Given the description of an element on the screen output the (x, y) to click on. 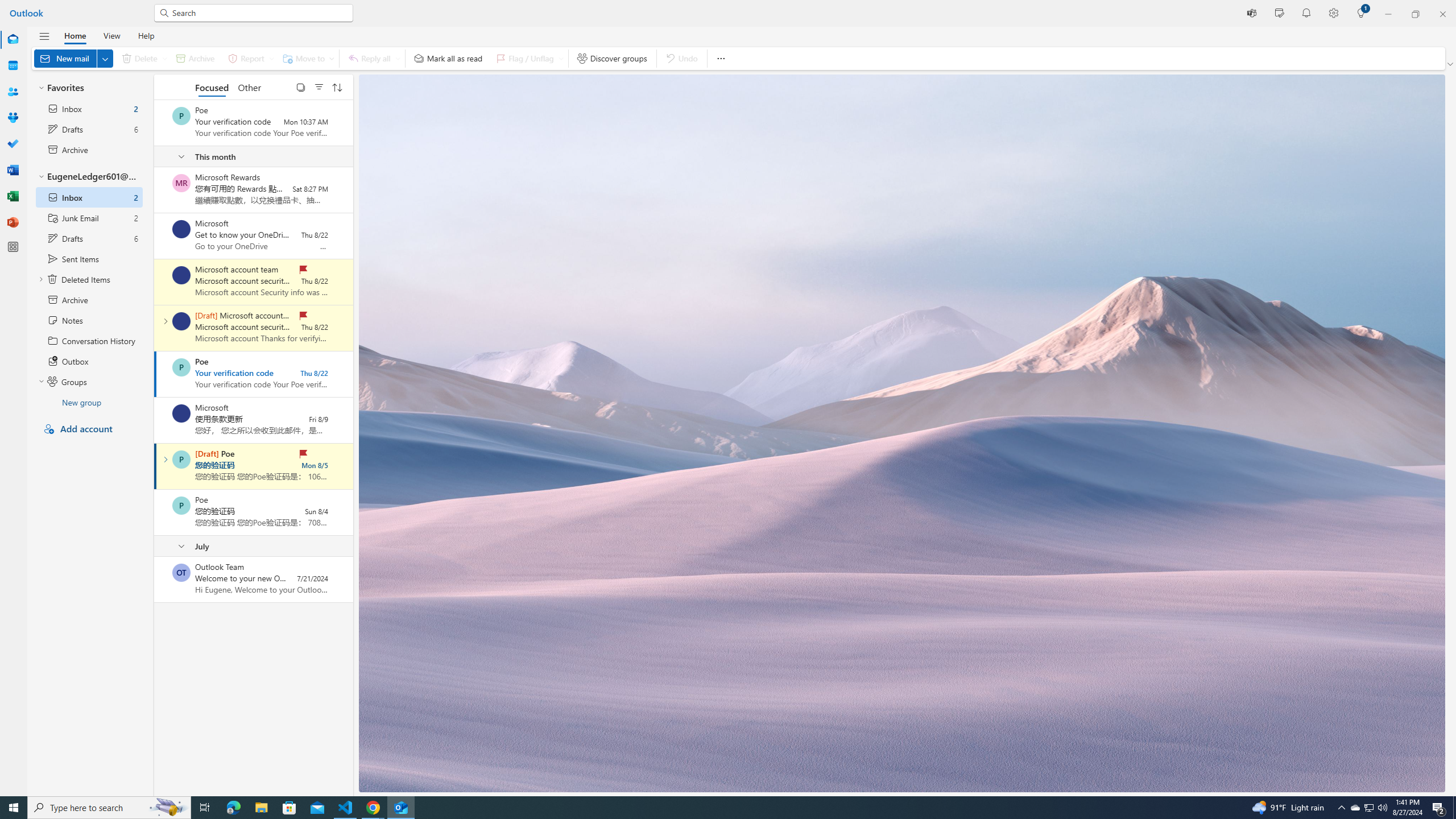
Mark as unread (154, 578)
Report (248, 58)
View (111, 35)
More options (720, 58)
Expand conversation (164, 459)
Discover groups (611, 58)
Archive (194, 58)
Microsoft (180, 413)
Flag / Unflag (527, 58)
Filter (318, 86)
Word (12, 170)
People (12, 91)
